Given the description of an element on the screen output the (x, y) to click on. 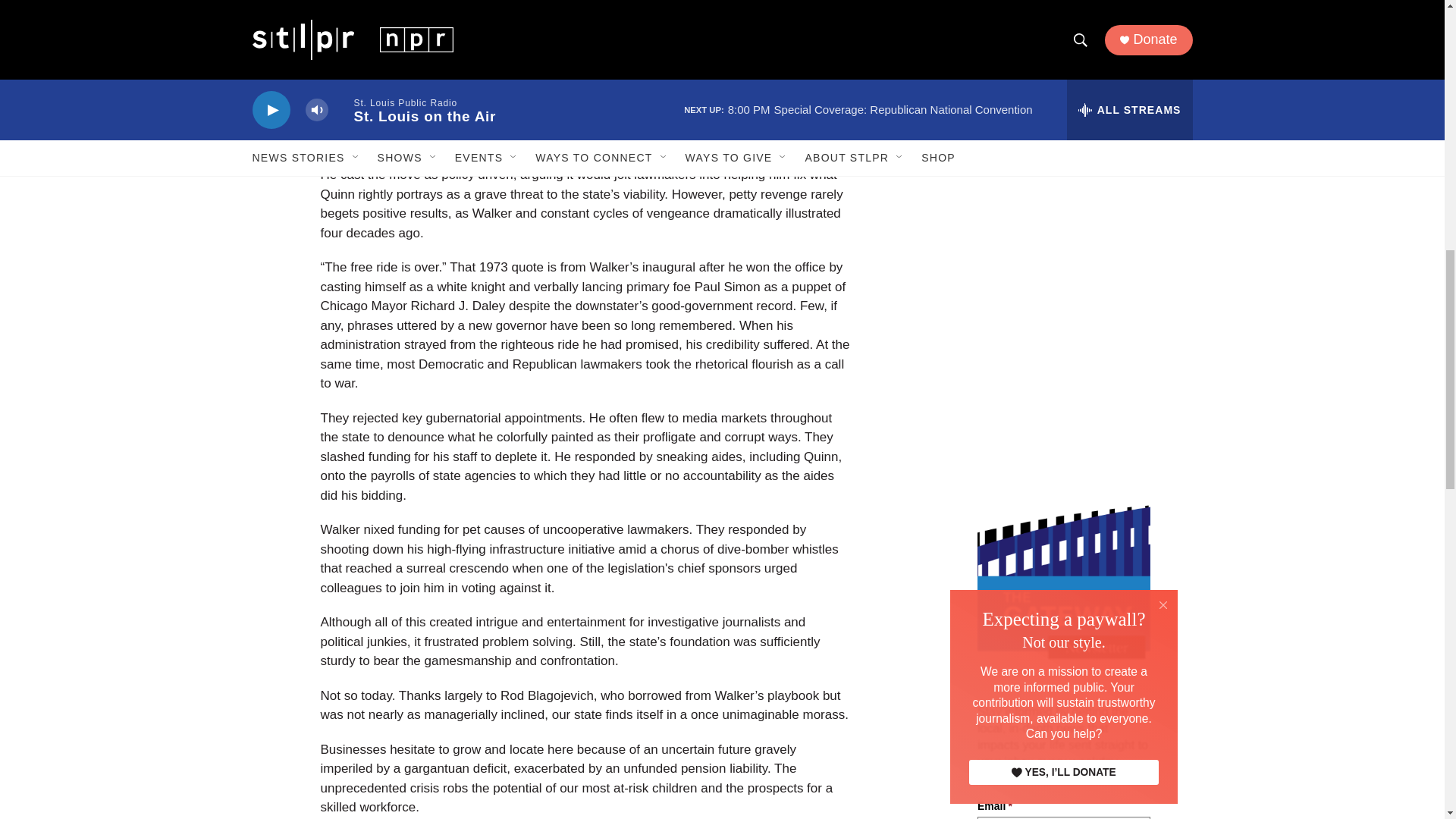
3rd party ad content (1062, 320)
3rd party ad content (1062, 100)
